Given the description of an element on the screen output the (x, y) to click on. 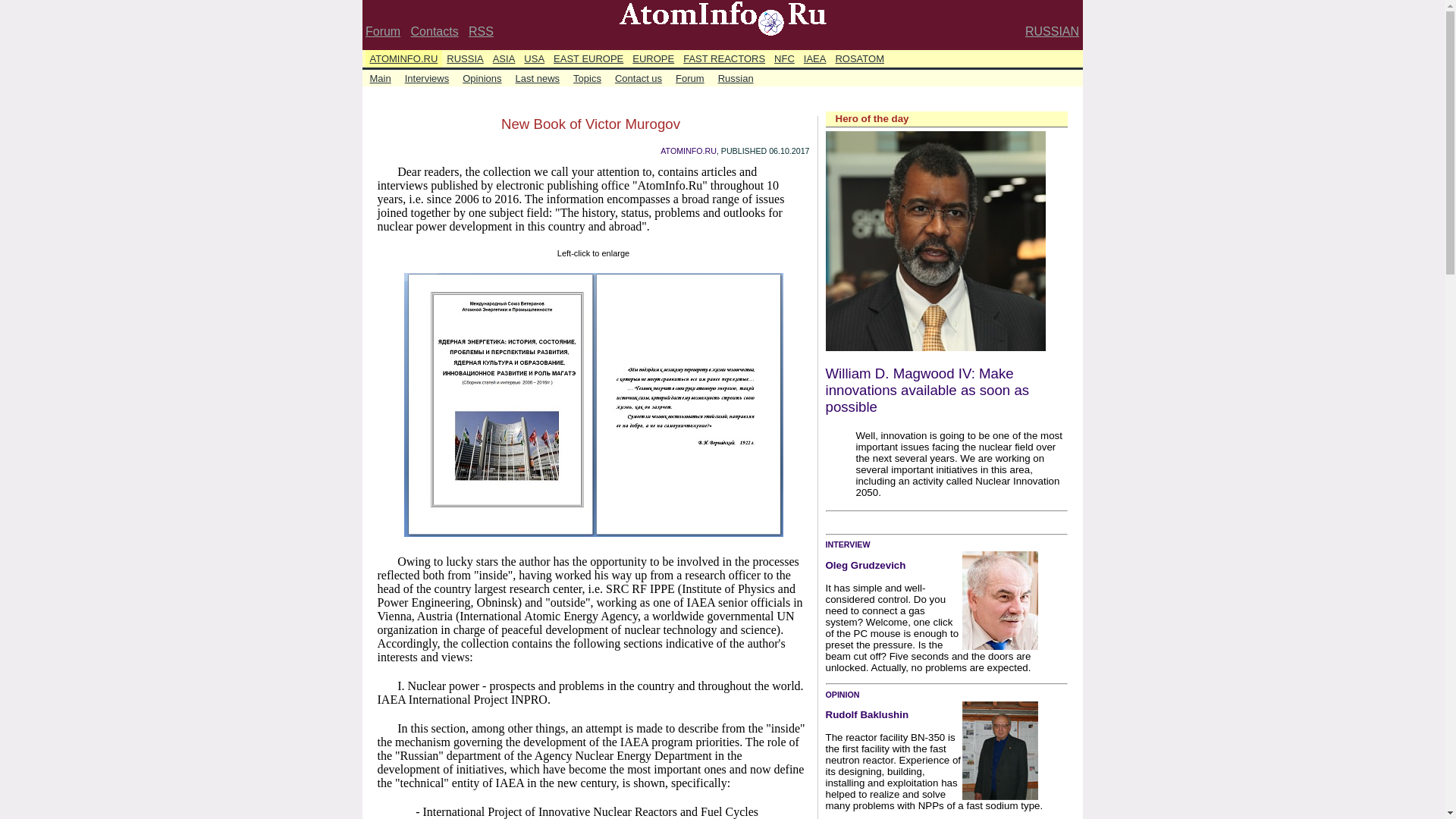
Opinions (481, 77)
RUSSIA (464, 58)
Forum (382, 31)
ATOMINFO.RU (688, 150)
Forum (690, 77)
ROSATOM (858, 58)
Topics (587, 77)
Last news (537, 77)
Contact us (638, 77)
IAEA (815, 58)
EUROPE (652, 58)
ASIA (503, 58)
Russian (735, 77)
USA (533, 58)
